Given the description of an element on the screen output the (x, y) to click on. 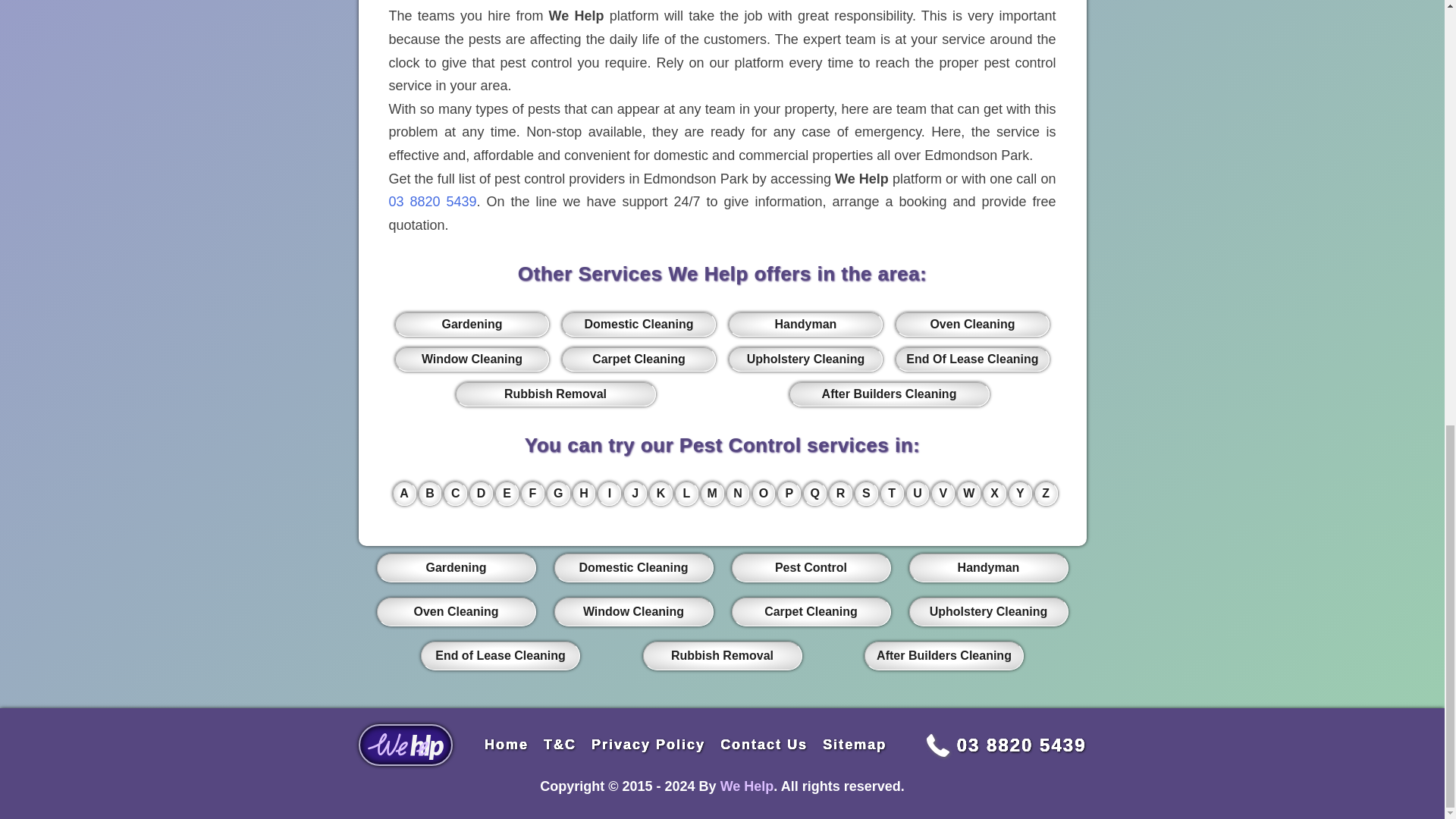
After Builders Cleaning (888, 394)
Oven Cleaning (971, 324)
Domestic Cleaning (638, 324)
Rubbish Removal (554, 394)
03 8820 5439 (432, 201)
Window Cleaning Edmondson Park 2171 (471, 359)
End Of Lease Cleaning Edmondson Park 2171 (971, 359)
Rubbish Removal Edmondson Park 2171 (554, 394)
Domestic Cleaning Edmondson Park 2171 (638, 324)
Window Cleaning (471, 359)
Carpet Cleaning (638, 359)
Gardening (471, 324)
Gardening Edmondson Park 2171 (471, 324)
Carpet Cleaning Edmondson Park 2171 (638, 359)
Oven Cleaning Edmondson Park 2171 (971, 324)
